Given the description of an element on the screen output the (x, y) to click on. 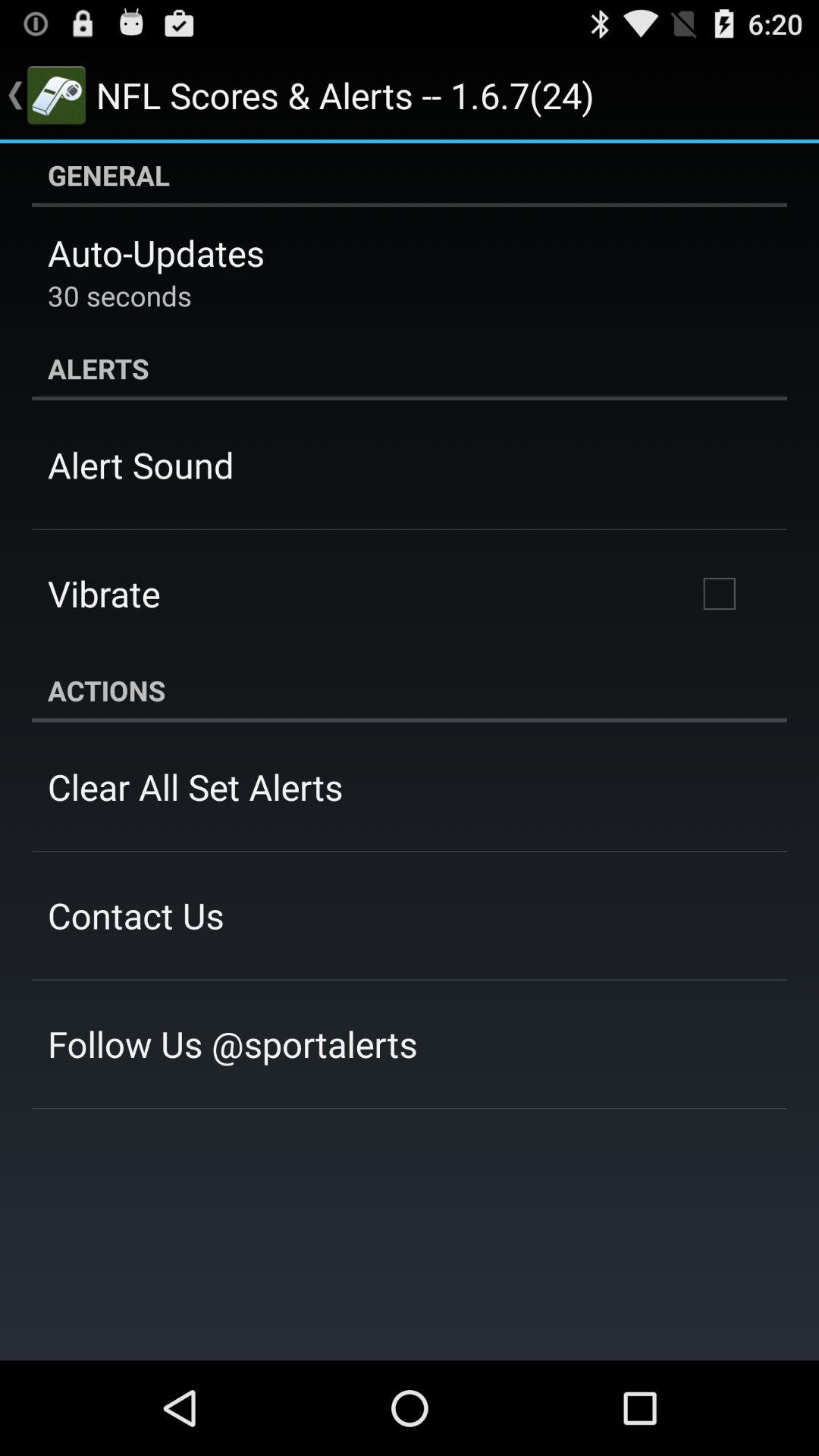
tap app above vibrate item (140, 464)
